Given the description of an element on the screen output the (x, y) to click on. 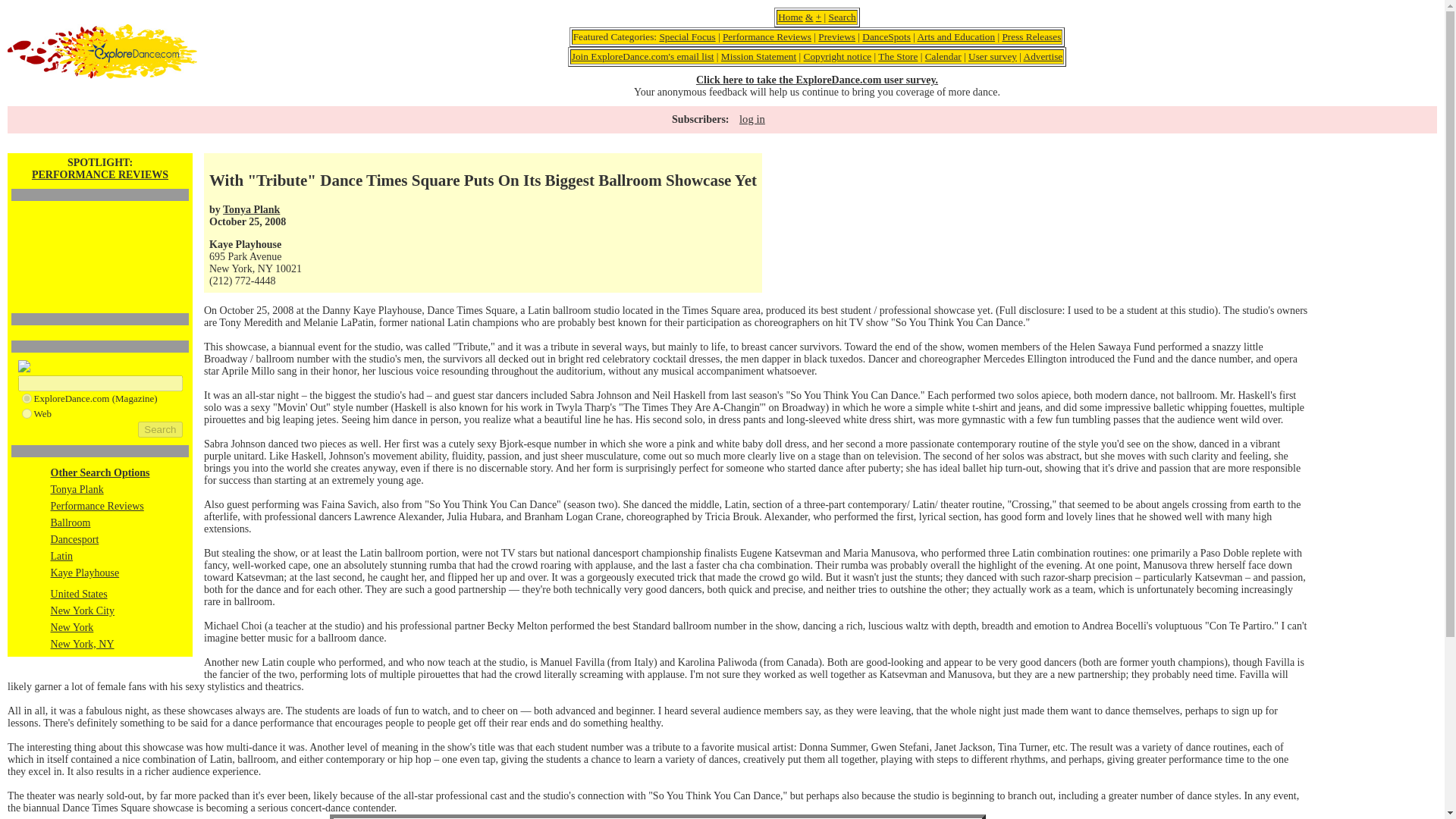
Arts and Education (955, 36)
Visit the ExploreDance store (897, 56)
Calendar (942, 56)
See the ExploreDance calendar (942, 56)
Search ExploreDance (842, 16)
Search (160, 429)
ExploreDance home (790, 16)
log in (752, 119)
United States (78, 593)
Click here to take the ExploreDance.com user survey. (816, 79)
Special Focus (686, 36)
Latin (62, 555)
www.exploredance.com (25, 398)
Read more Special Focus (686, 36)
Subscribe to the ExploreDance email list (643, 56)
